Given the description of an element on the screen output the (x, y) to click on. 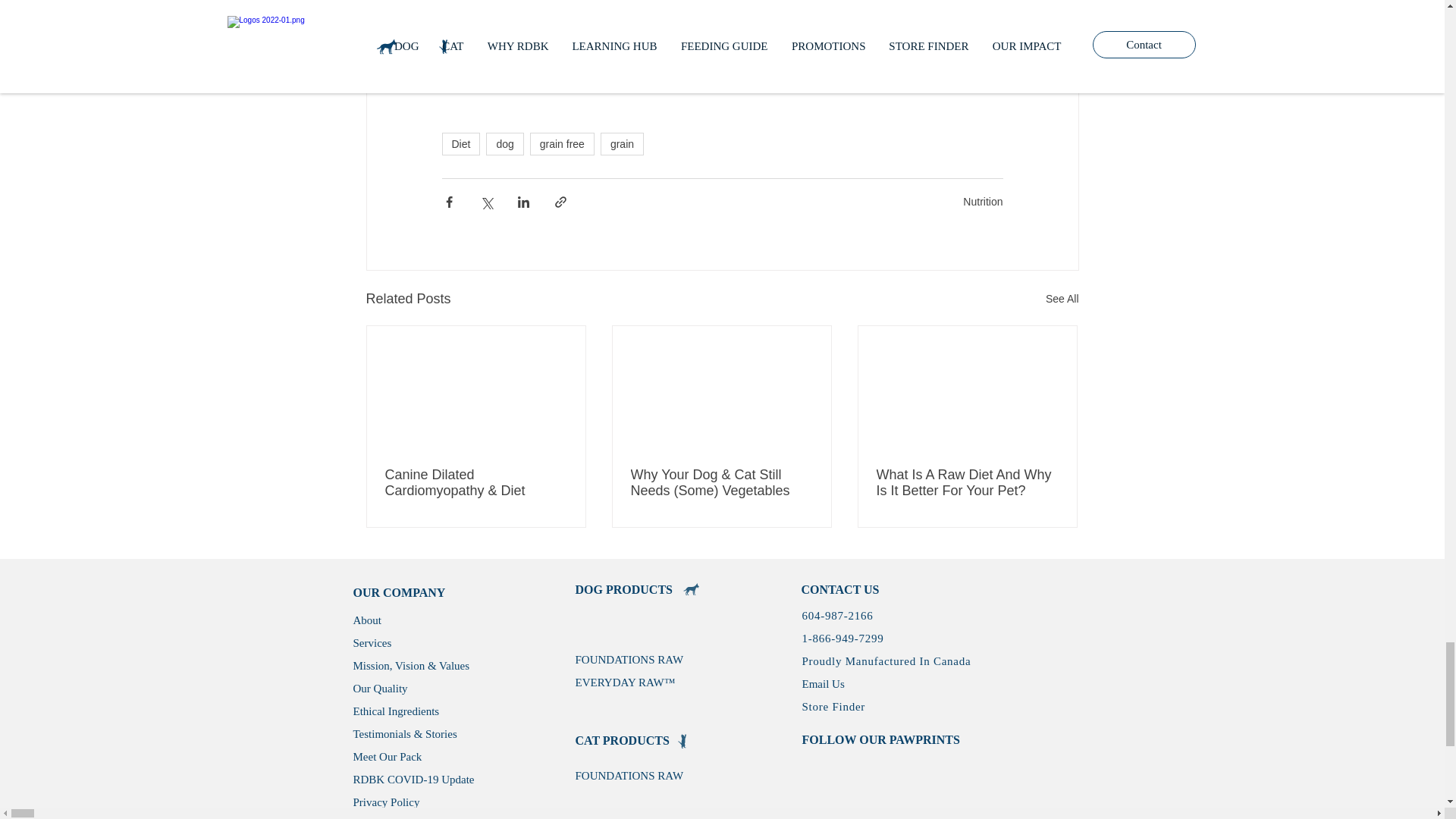
Diet (460, 143)
dog (504, 143)
grain free (561, 143)
grain (621, 143)
